Given the description of an element on the screen output the (x, y) to click on. 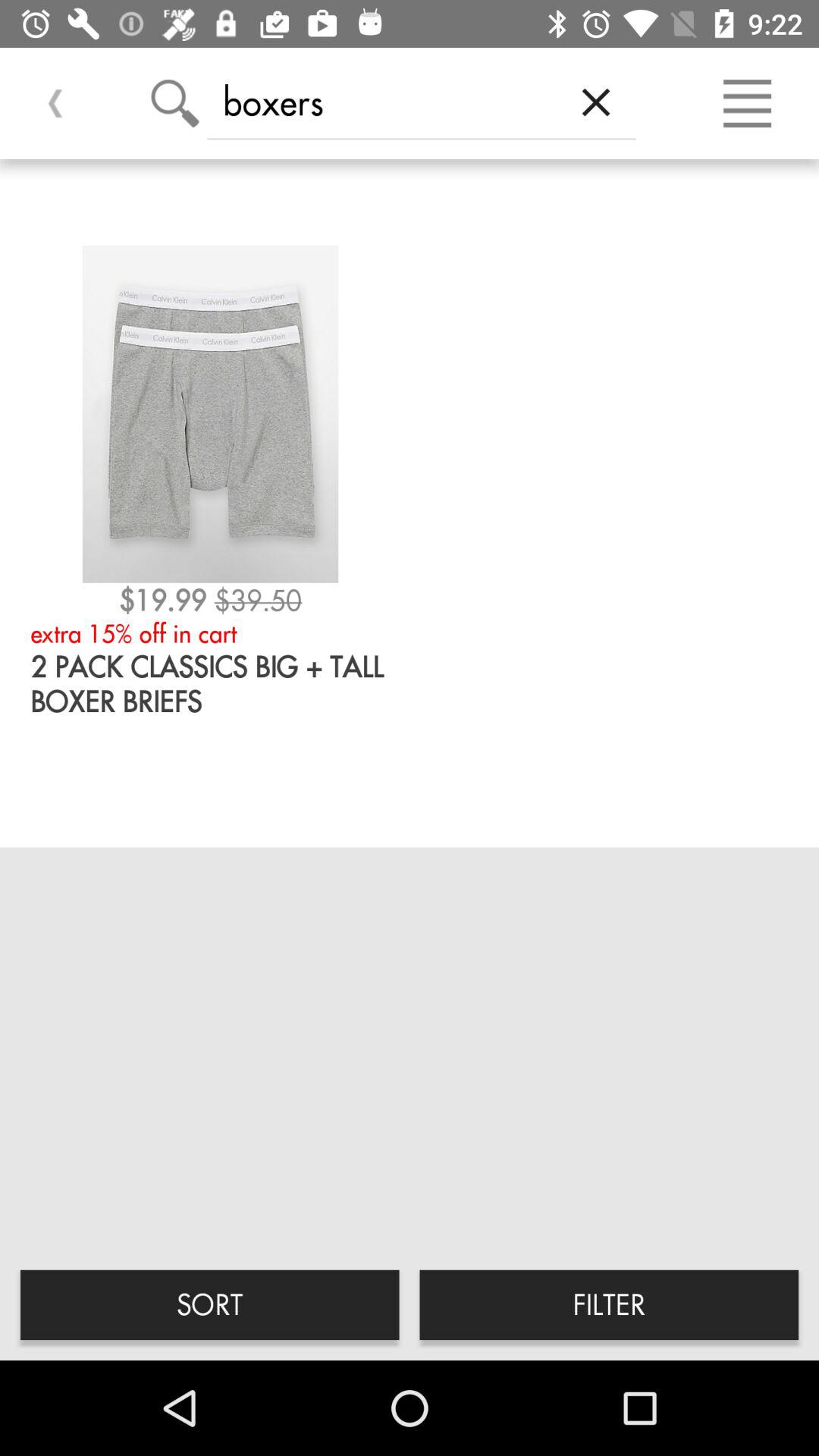
choose the icon to the right of the boxers icon (595, 102)
